Given the description of an element on the screen output the (x, y) to click on. 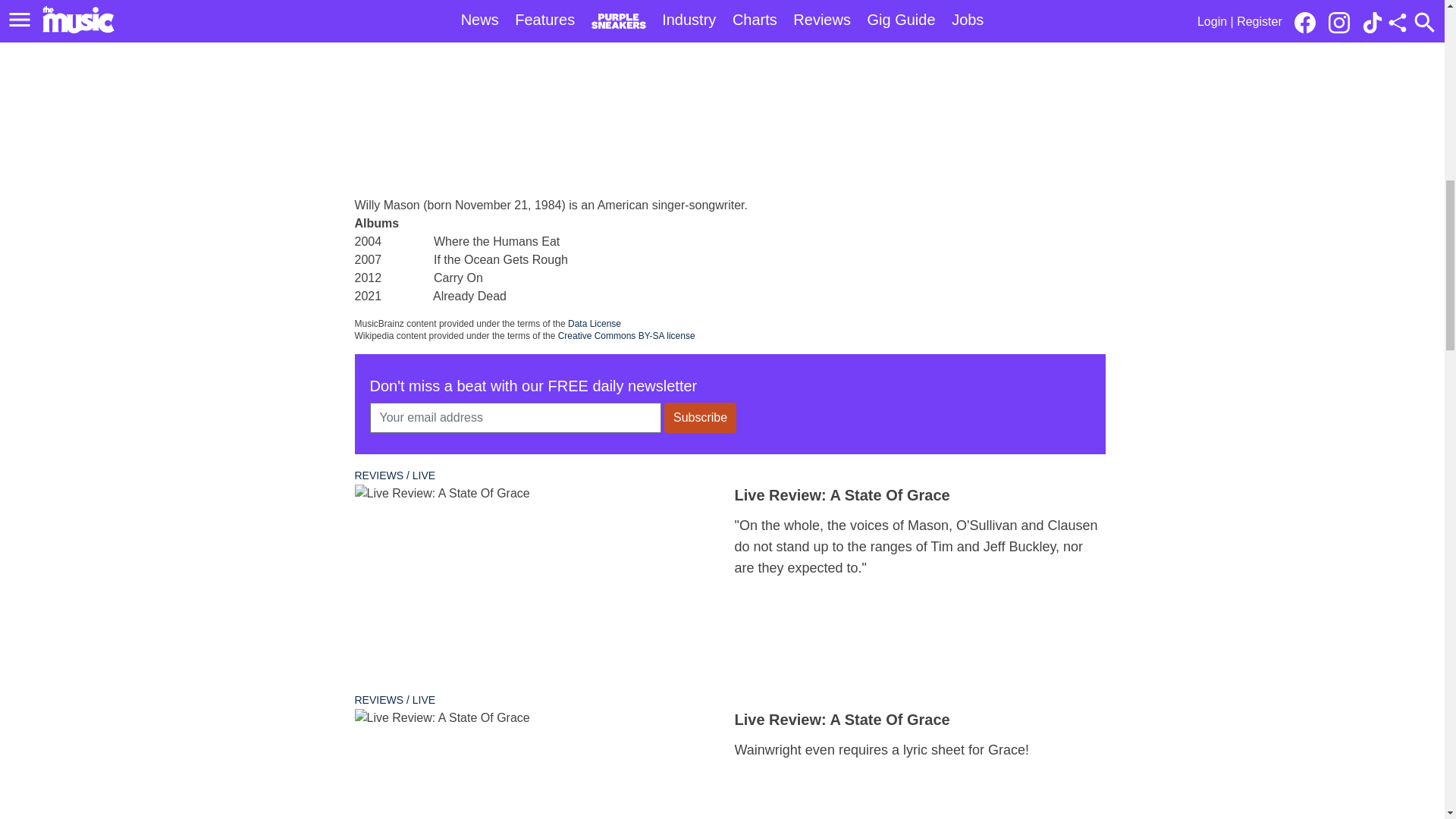
Creative Commons BY-SA license (626, 335)
Subscribe (699, 417)
Data License (594, 323)
